Given the description of an element on the screen output the (x, y) to click on. 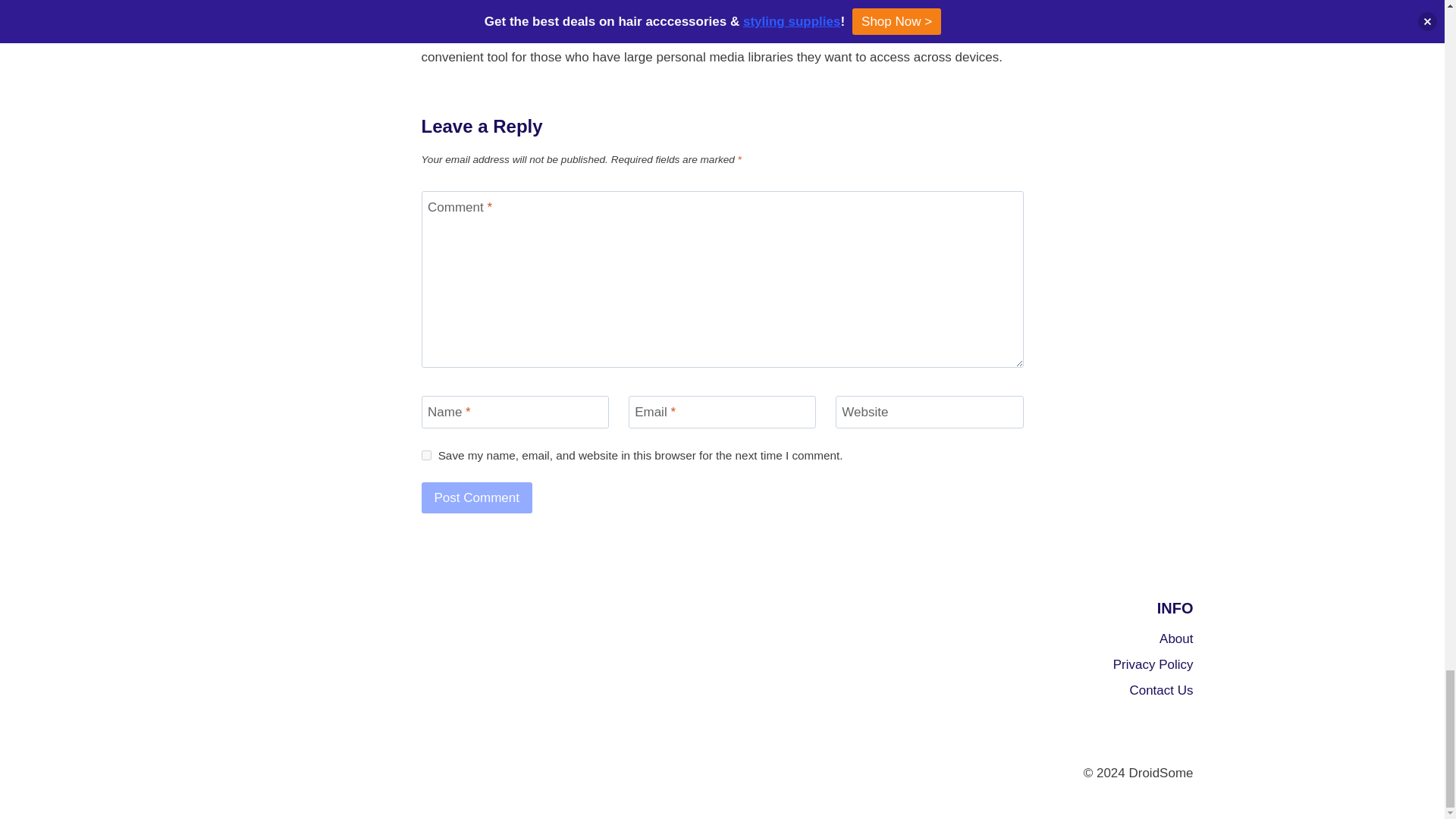
Privacy Policy (1044, 665)
yes (426, 455)
Post Comment (477, 497)
Contact Us (1044, 691)
About (1044, 639)
Post Comment (477, 497)
